Given the description of an element on the screen output the (x, y) to click on. 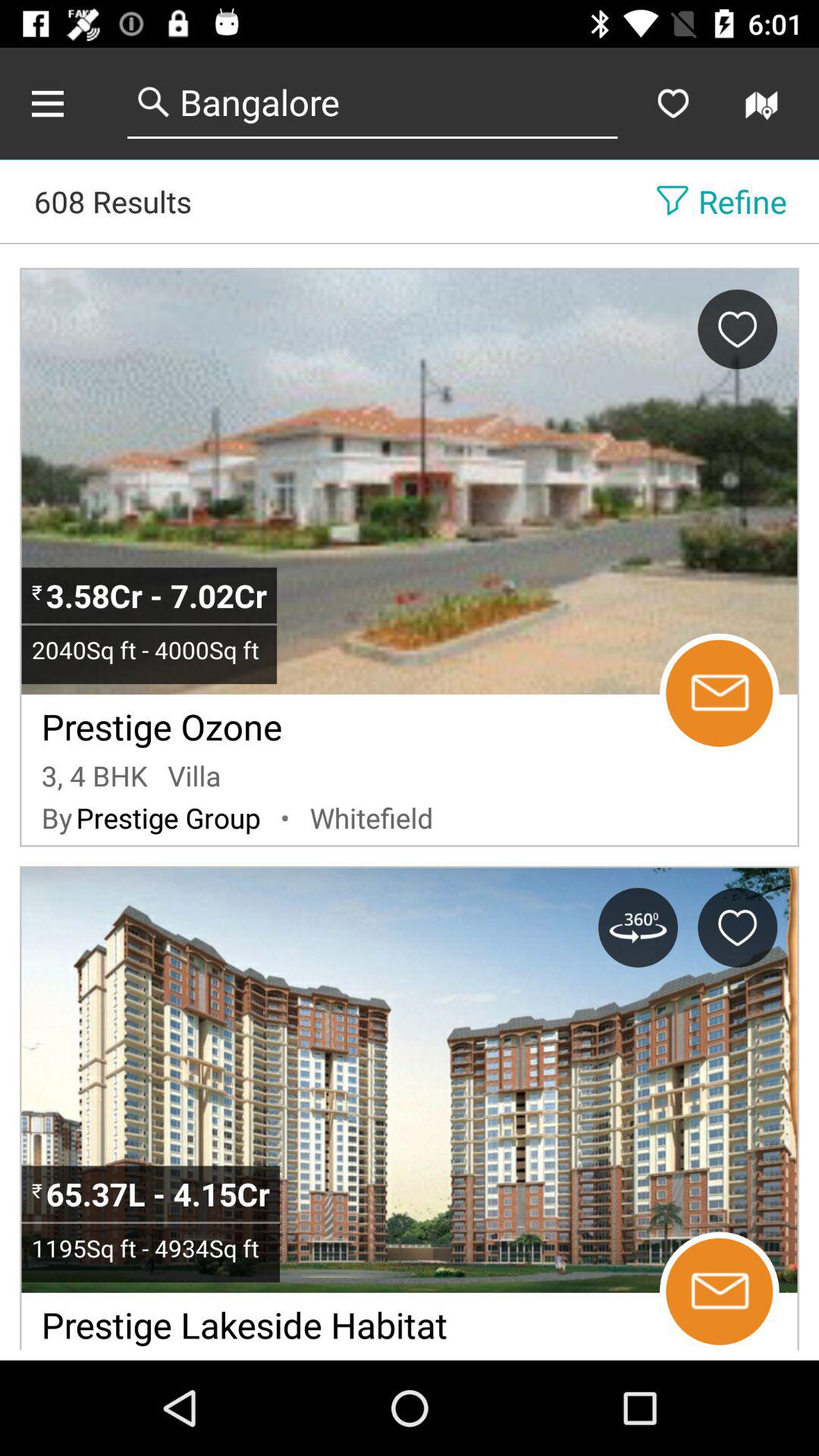
go to message (719, 1291)
